Given the description of an element on the screen output the (x, y) to click on. 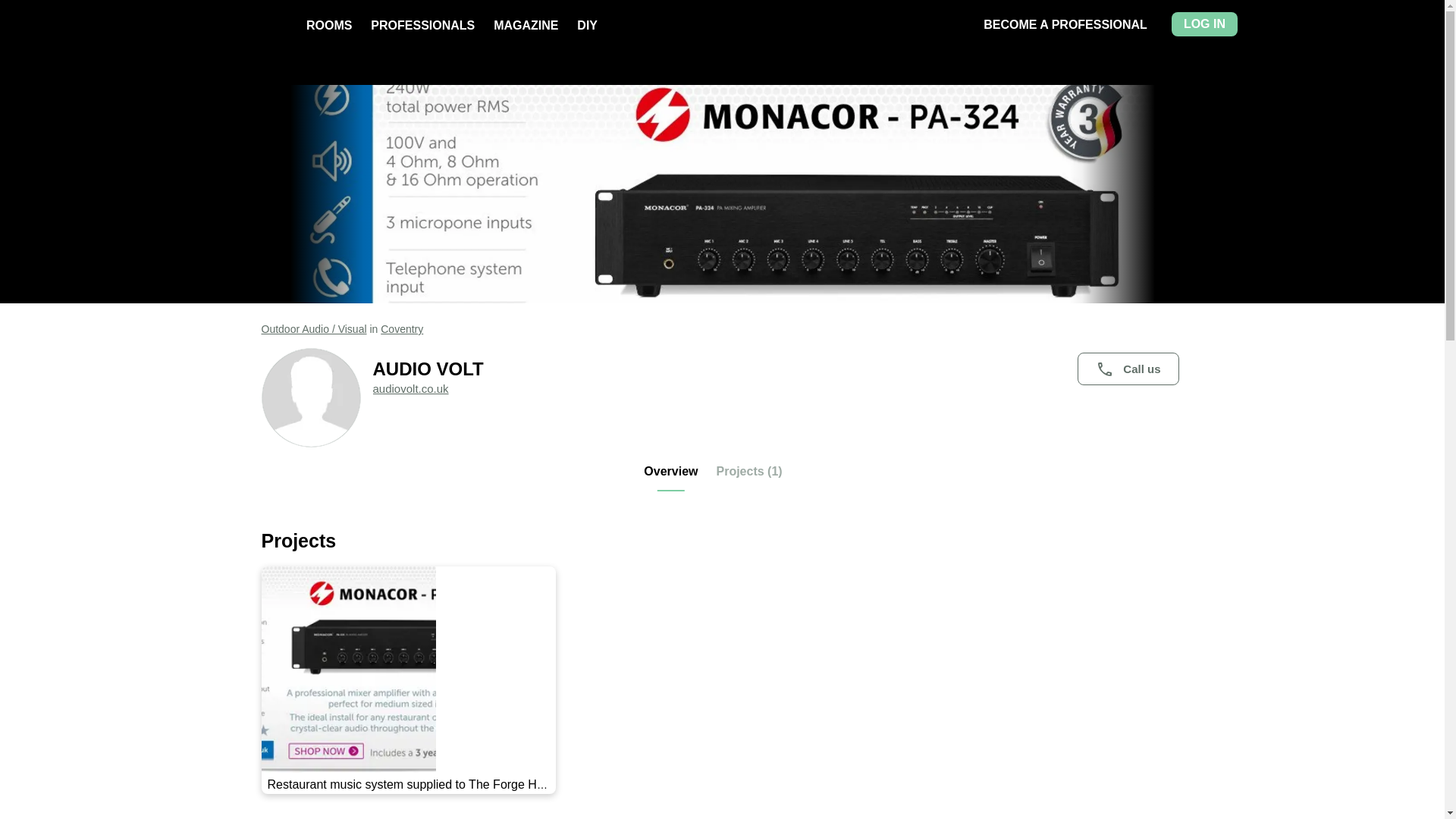
LOG IN (1204, 24)
DIY (586, 25)
Call us (1127, 368)
audiovolt.co.uk (410, 388)
PROFESSIONALS (422, 25)
ROOMS (328, 25)
BECOME A PROFESSIONAL (1064, 23)
MAGAZINE (525, 25)
AUDIO VOLT (777, 368)
